Given the description of an element on the screen output the (x, y) to click on. 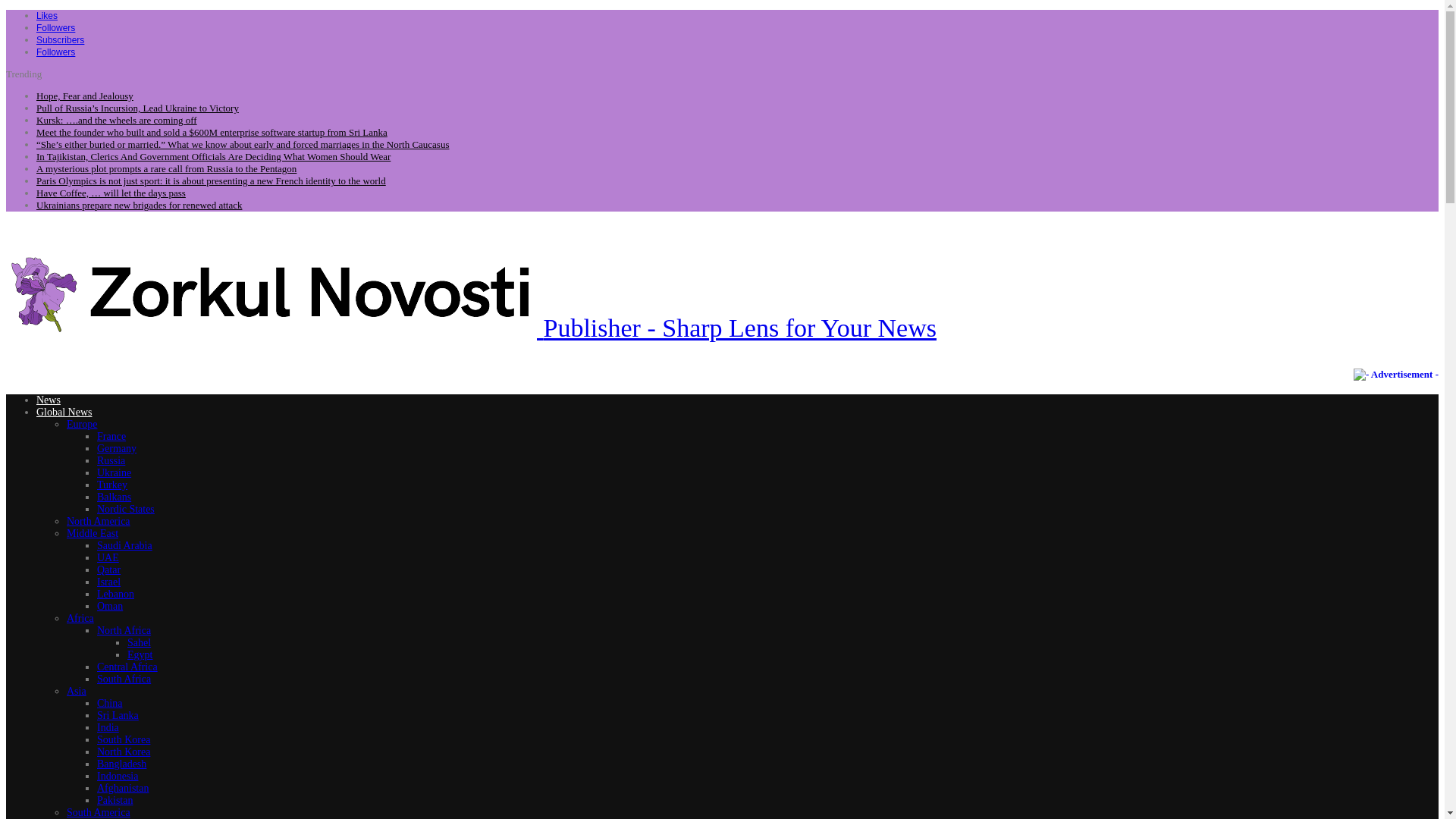
Subscribers (60, 39)
Qatar (108, 569)
Russia (111, 460)
Germany (116, 448)
North America (98, 521)
Likes (47, 15)
South Africa (124, 678)
Publisher - Sharp Lens for Your News (470, 327)
UAE (108, 557)
